Given the description of an element on the screen output the (x, y) to click on. 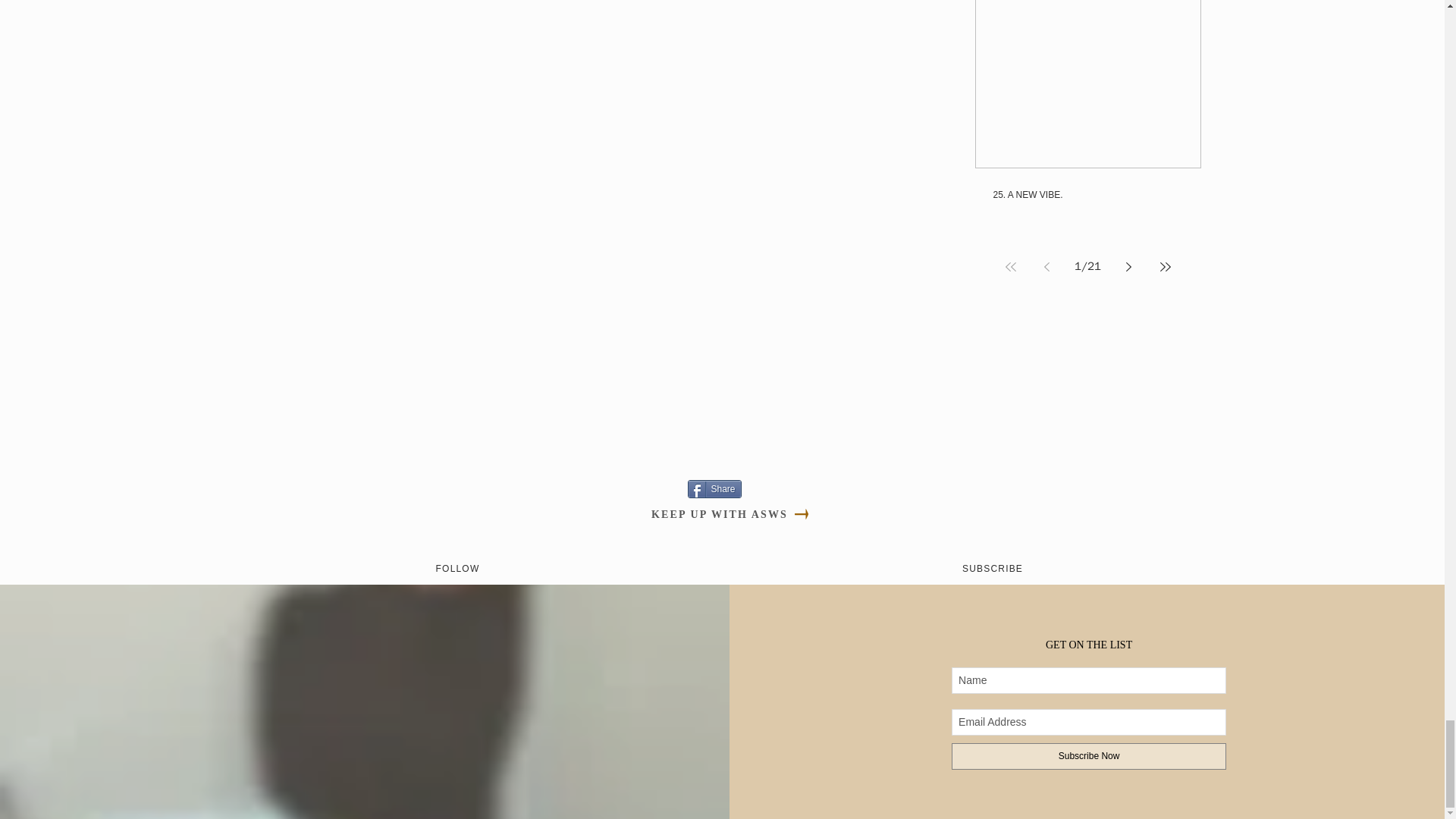
Subscribe Now (1088, 755)
Twitter Tweet (587, 488)
Share (714, 488)
Facebook Like (646, 488)
25. A NEW VIBE. (1087, 194)
Share (714, 488)
Pin to Pinterest (528, 488)
